Given the description of an element on the screen output the (x, y) to click on. 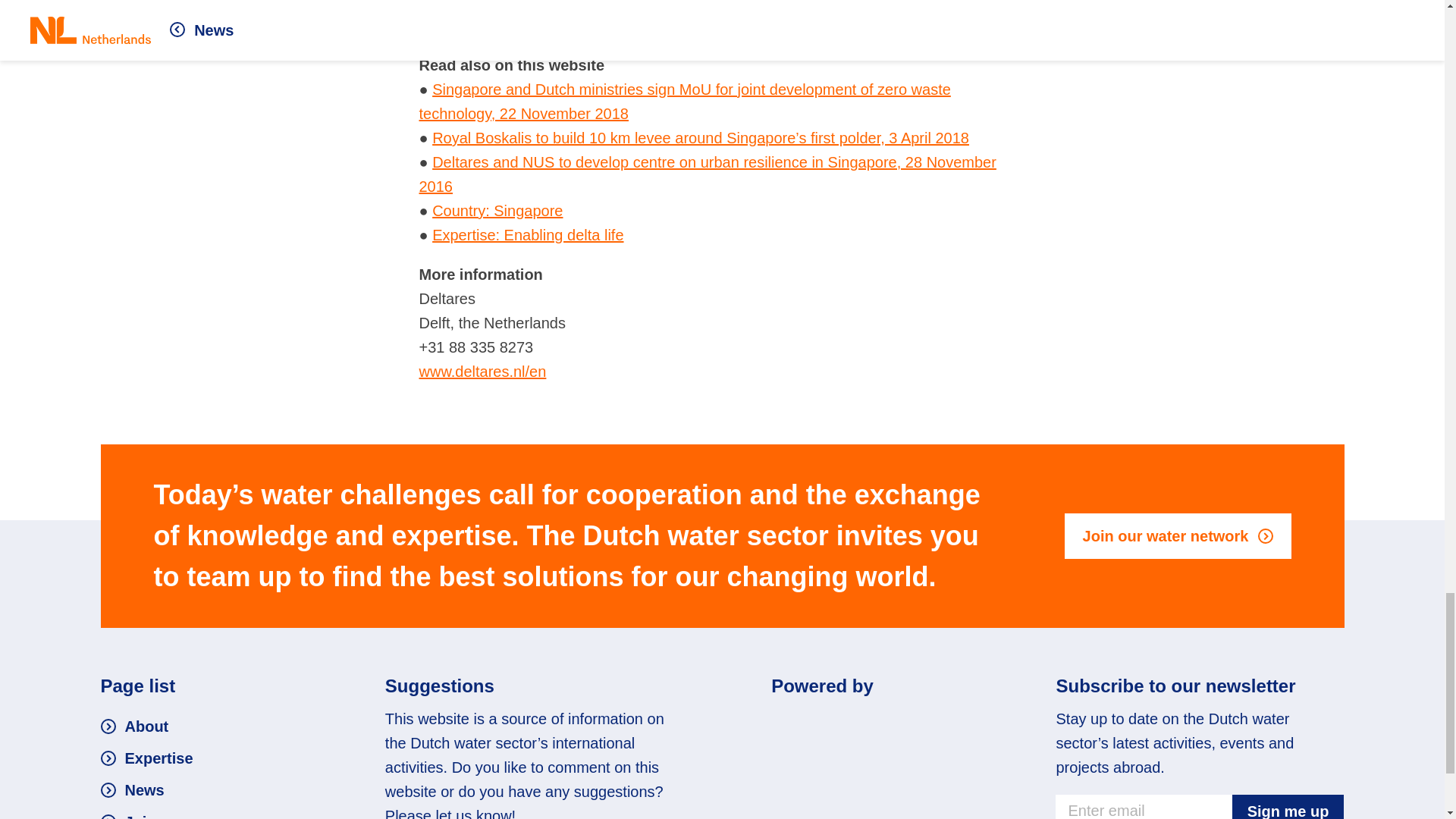
Expertise: Enabling delta life (527, 234)
Expertise (146, 758)
News (131, 790)
About (134, 726)
Country: Singapore (497, 210)
Join our water network (1177, 535)
Image (864, 726)
